Given the description of an element on the screen output the (x, y) to click on. 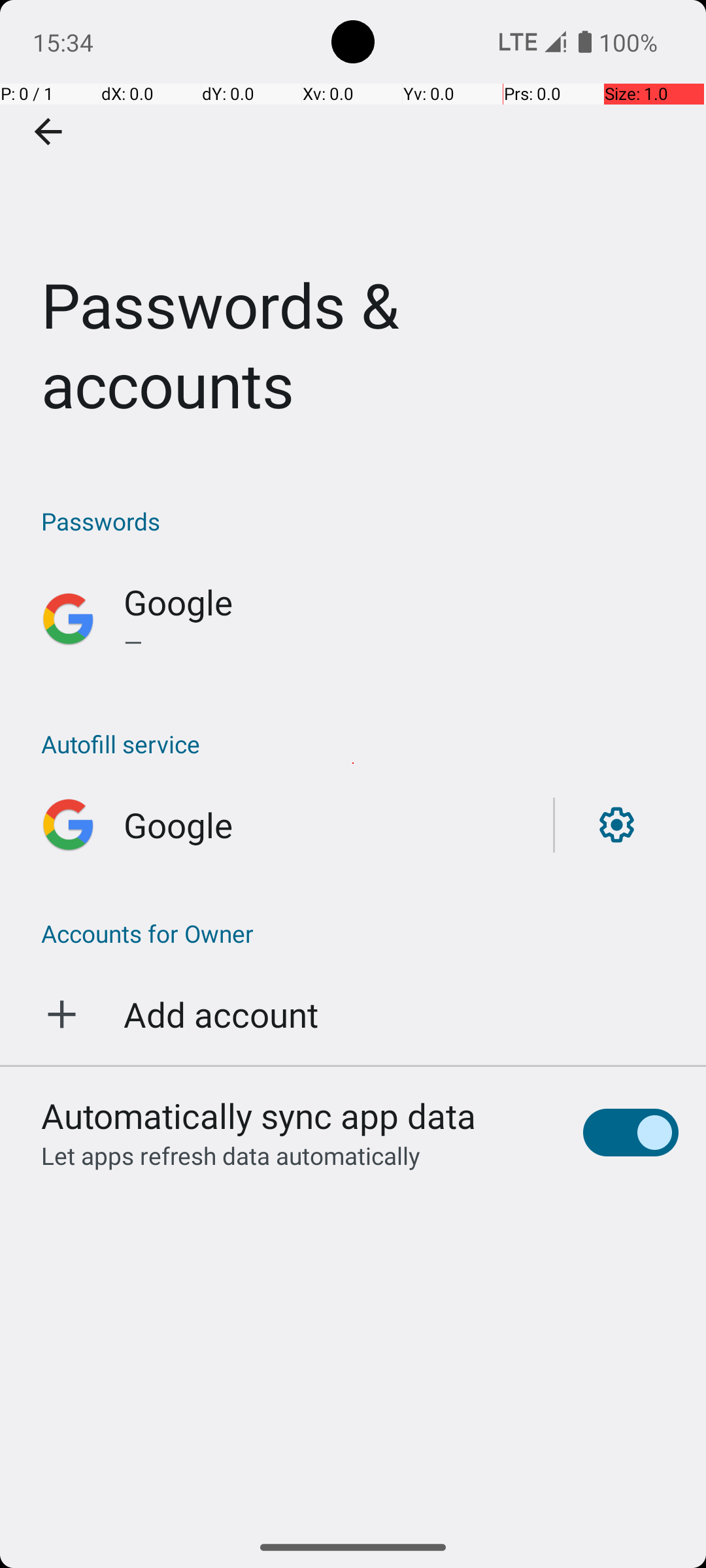
Passwords & accounts Element type: android.widget.FrameLayout (353, 231)
Accounts for Owner Element type: android.widget.LinearLayout (353, 932)
Passwords Element type: android.widget.TextView (359, 520)
Google Element type: android.widget.TextView (177, 601)
— Element type: android.widget.TextView (400, 641)
Autofill service Element type: android.widget.TextView (359, 743)
Automatically sync app data Element type: android.widget.TextView (258, 1115)
Let apps refresh data automatically Element type: android.widget.TextView (230, 1155)
